Given the description of an element on the screen output the (x, y) to click on. 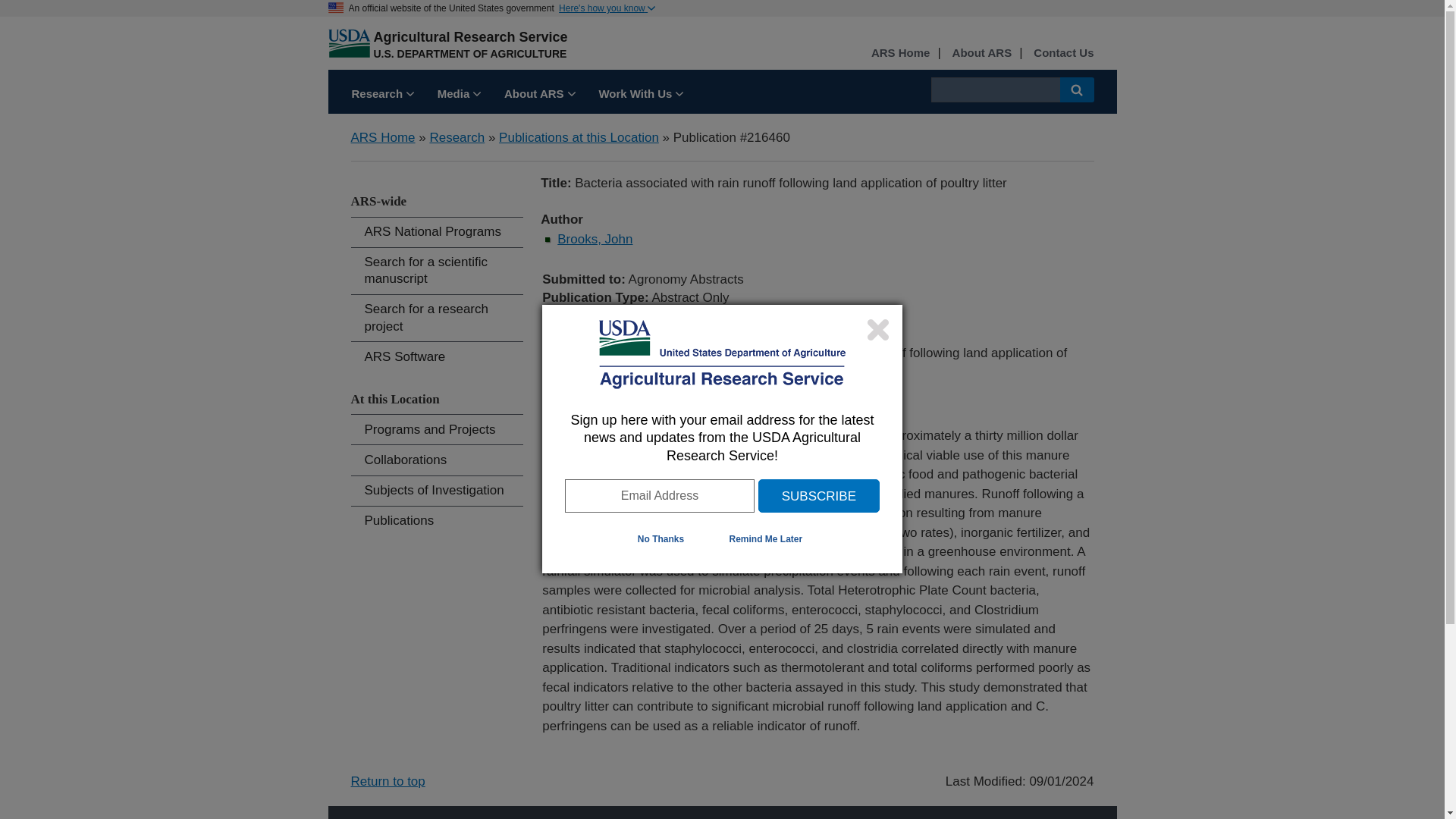
Email Address (659, 495)
Skip to main content (69, 0)
Research (382, 94)
Contact Us (1063, 53)
Agricultural Research Service (469, 37)
Work With Us (640, 94)
Close subscription dialog (877, 328)
Here's how you know (607, 8)
Media (459, 94)
Agricultural Research Service Home (469, 37)
